Given the description of an element on the screen output the (x, y) to click on. 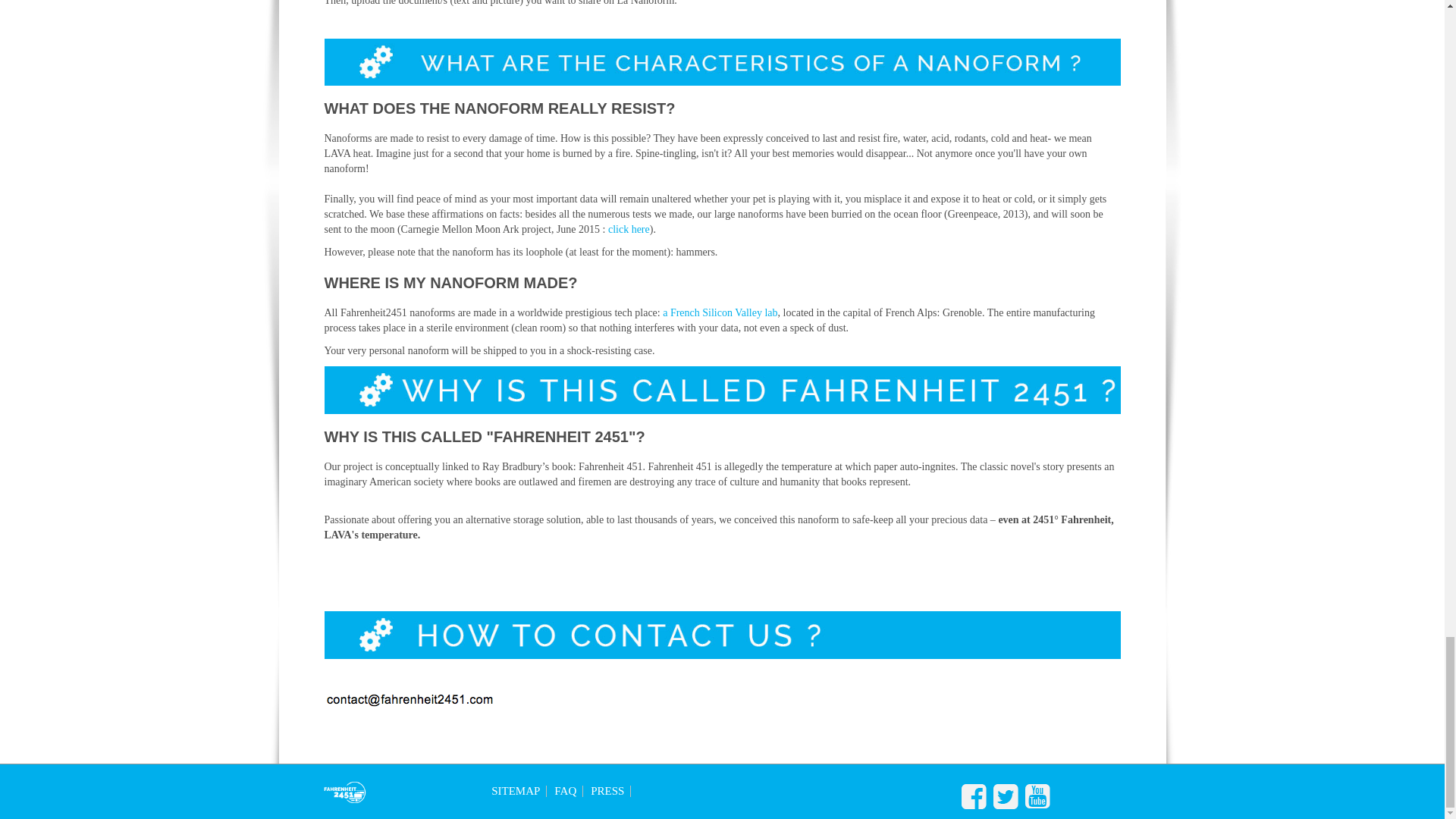
PRESS (610, 790)
a French Silicon Valley lab (719, 312)
FAQ (568, 790)
click here (628, 229)
SITEMAP (519, 790)
